Given the description of an element on the screen output the (x, y) to click on. 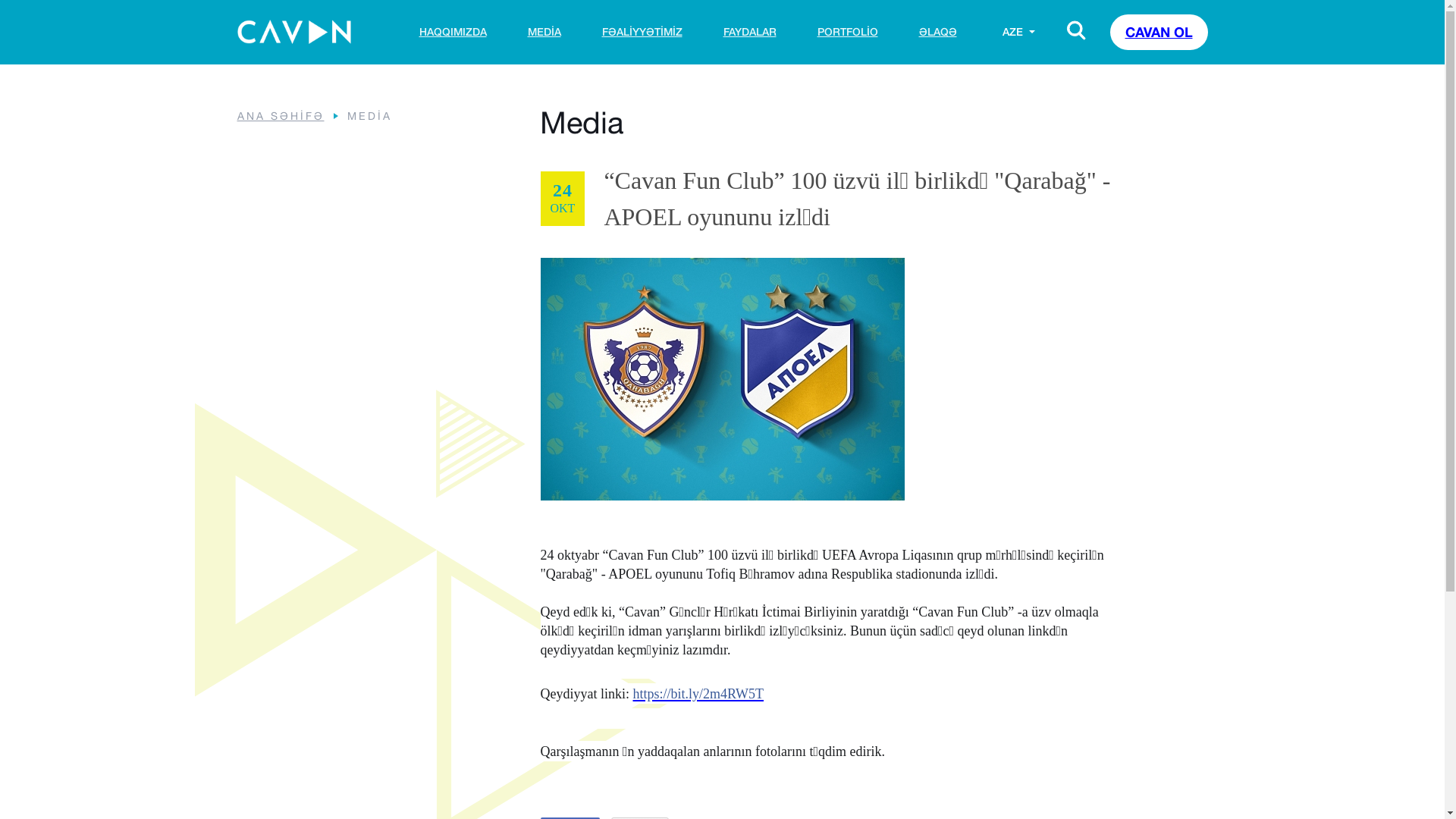
MEDIA Element type: text (544, 31)
CAVAN OL Element type: text (1159, 31)
PORTFOLIO Element type: text (847, 31)
FAYDALAR Element type: text (749, 31)
HAQQIMIZDA Element type: text (452, 31)
https://bit.ly/2m4RW5T Element type: text (697, 692)
